Given the description of an element on the screen output the (x, y) to click on. 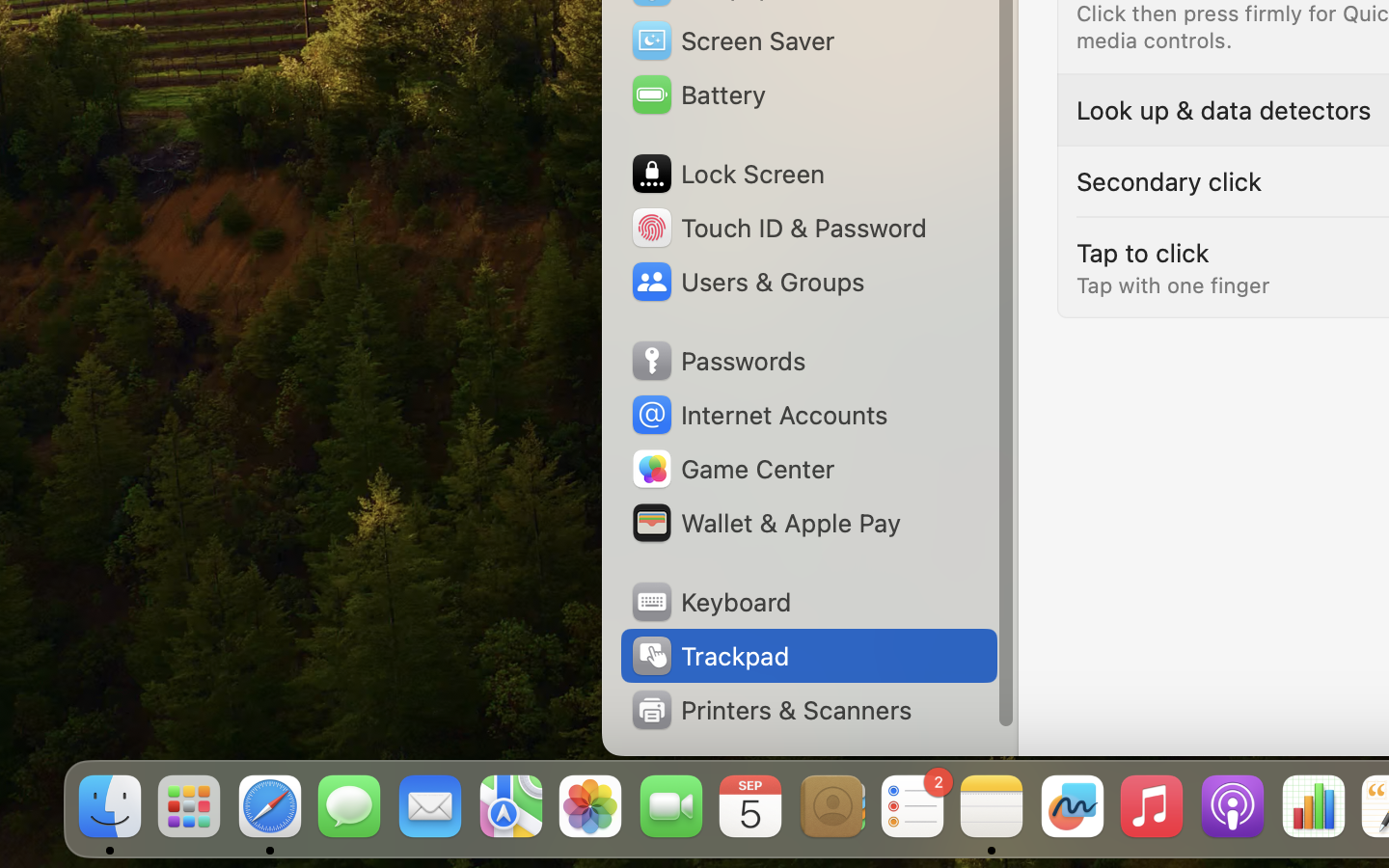
Battery Element type: AXStaticText (696, 94)
Game Center Element type: AXStaticText (731, 468)
Screen Saver Element type: AXStaticText (731, 40)
Look up & data detectors Element type: AXStaticText (1223, 109)
Users & Groups Element type: AXStaticText (746, 281)
